Given the description of an element on the screen output the (x, y) to click on. 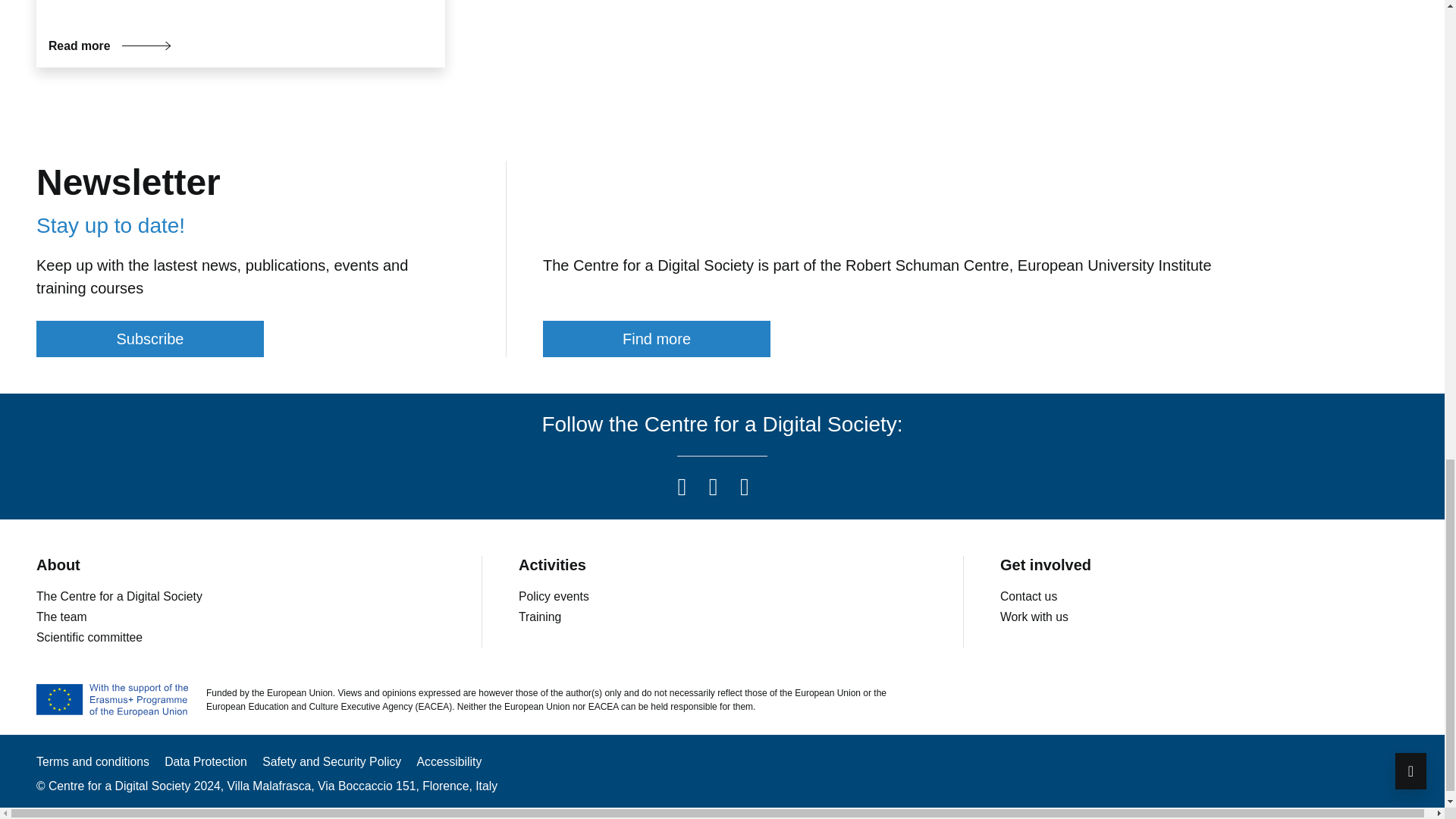
Subscribe (149, 339)
Read more (109, 46)
